Given the description of an element on the screen output the (x, y) to click on. 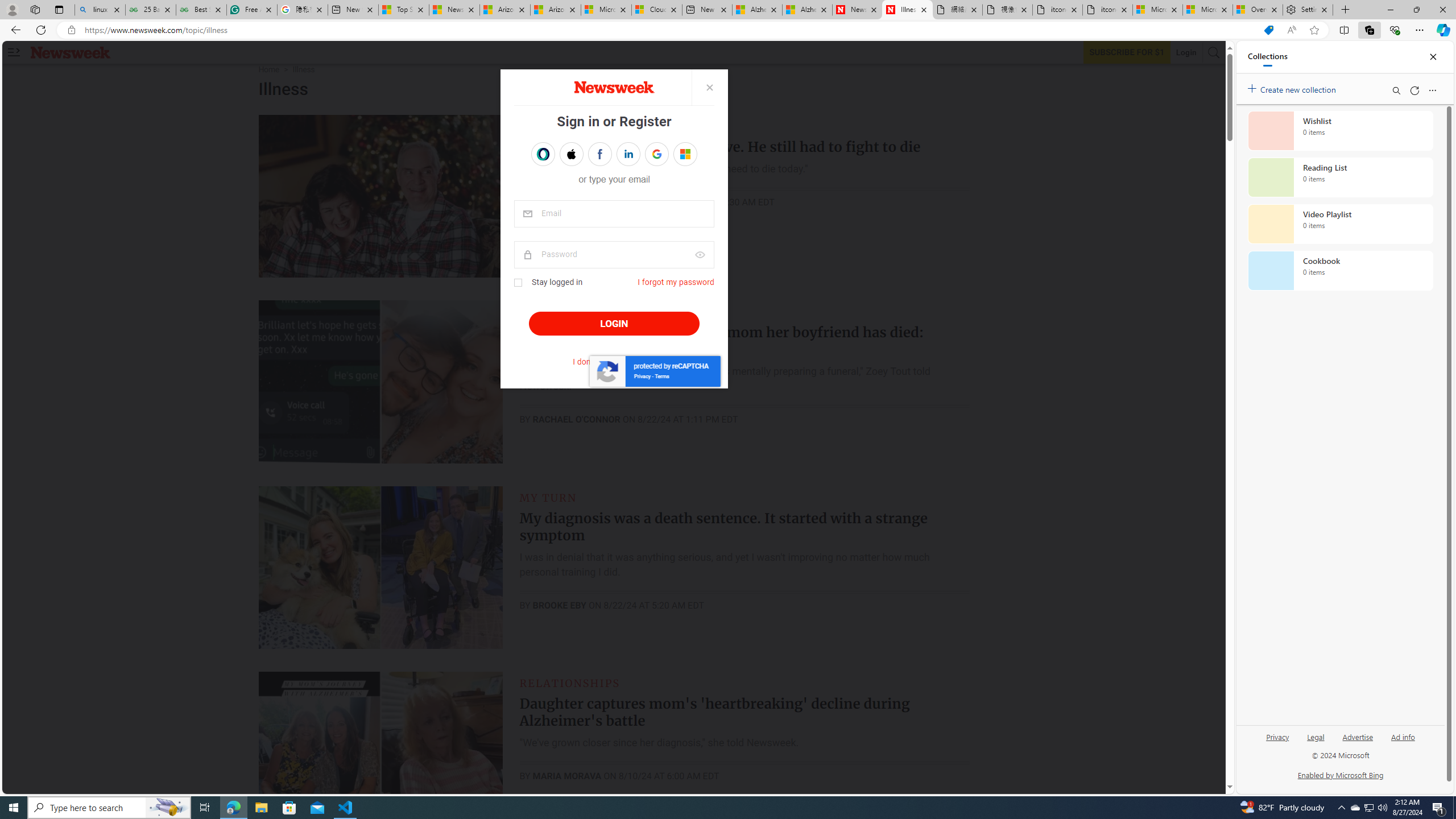
Eugene (677, 153)
Free AI Writing Assistance for Students | Grammarly (251, 9)
Overview (1257, 9)
Class: checkbox (517, 282)
Newsweek logo (70, 51)
Terms (661, 375)
